Given the description of an element on the screen output the (x, y) to click on. 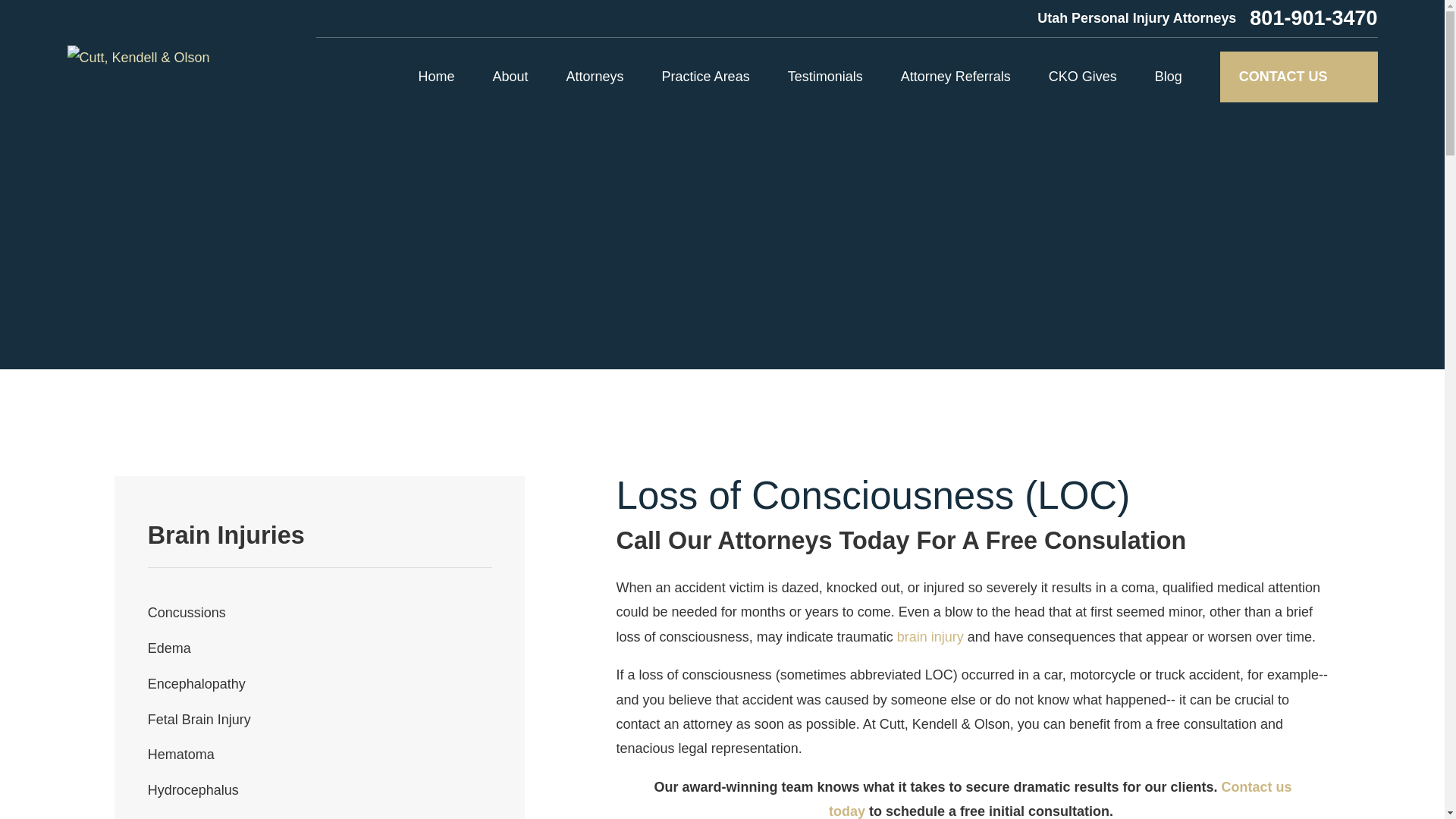
801-901-3470 (1313, 18)
Home (137, 57)
Attorneys (595, 77)
Practice Areas (705, 77)
